Given the description of an element on the screen output the (x, y) to click on. 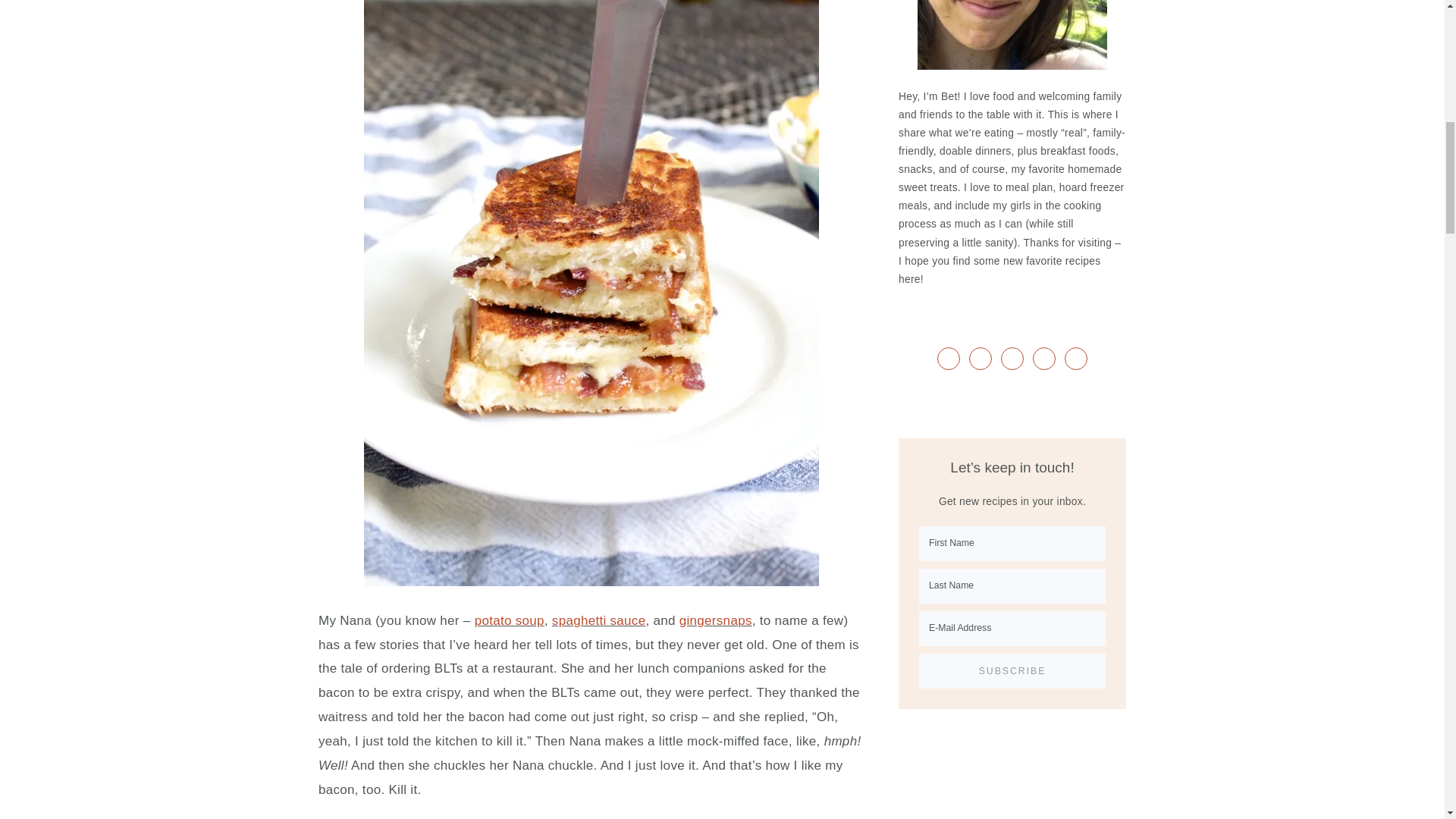
potato soup (509, 620)
Subscribe (1011, 670)
spaghetti sauce (598, 620)
gingersnaps (715, 620)
